Given the description of an element on the screen output the (x, y) to click on. 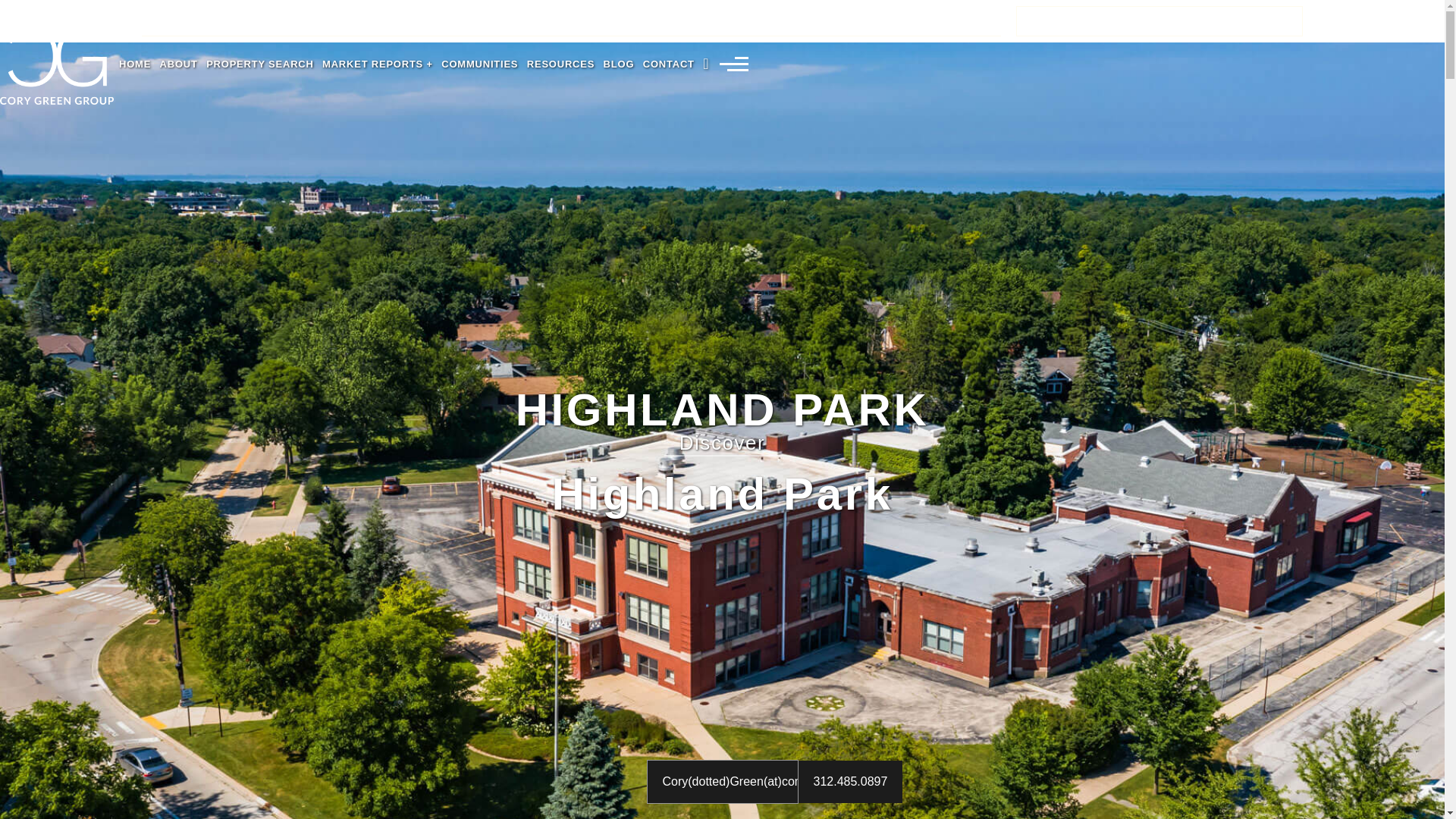
HOME (135, 67)
PROPERTY SEARCH (259, 67)
COMMUNITIES (479, 67)
Get First Access Now (721, 571)
ABOUT (179, 67)
